Given the description of an element on the screen output the (x, y) to click on. 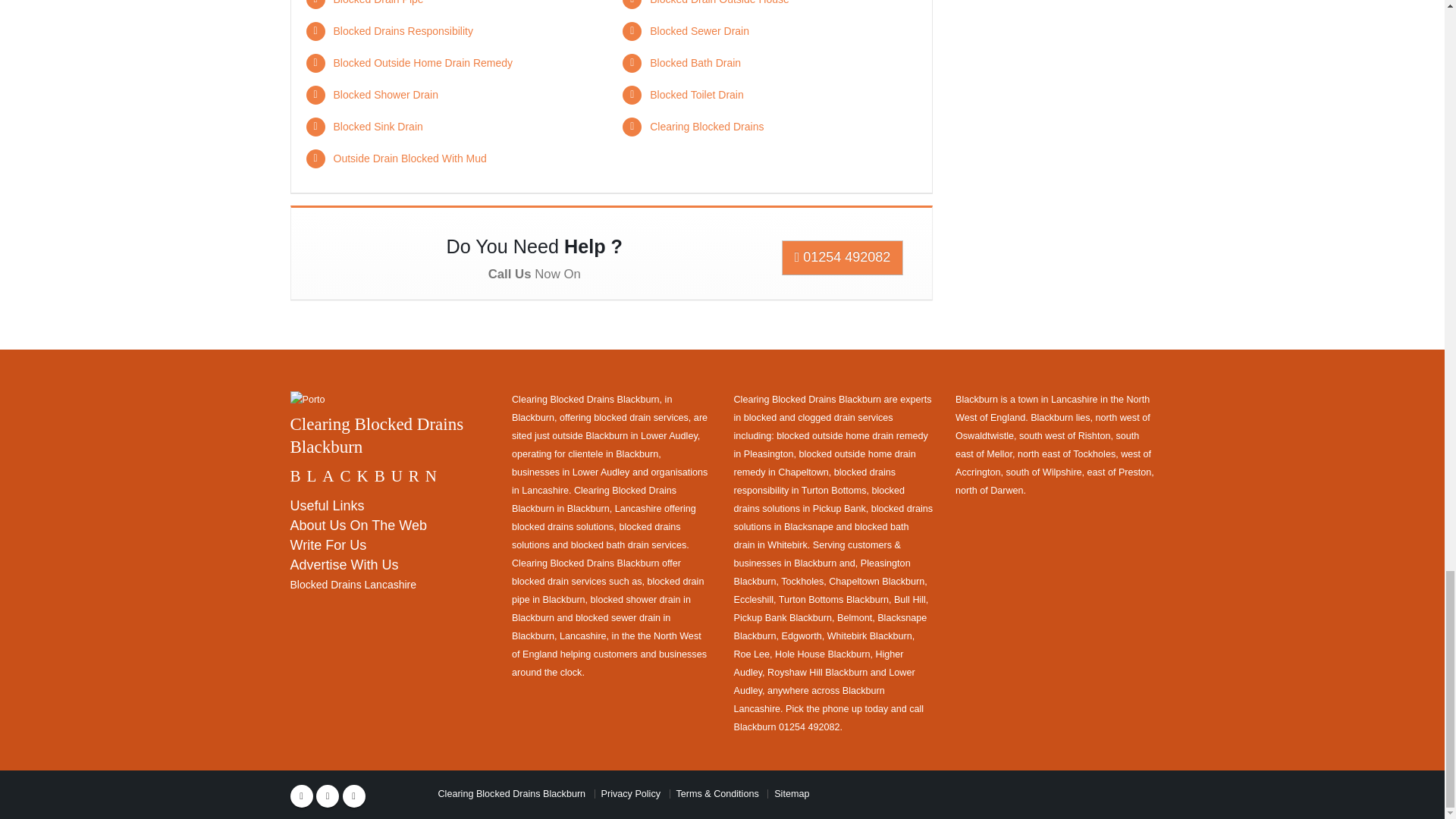
Outside Drain Blocked With Mud (409, 158)
Facebook (301, 795)
01254 492082 (842, 256)
Blocked Drain Outside House (719, 2)
Blocked Sewer Drain (699, 30)
Blocked Drains Responsibility (403, 30)
Blocked Drain Pipe (378, 2)
Linkedin (353, 795)
Blocked Bath Drain (695, 62)
Twitter (327, 795)
Blocked Sink Drain (378, 126)
Clearing Blocked Drains (705, 126)
Blocked Shower Drain (386, 94)
Blocked Toilet Drain (695, 94)
Blocked Outside Home Drain Remedy (423, 62)
